Given the description of an element on the screen output the (x, y) to click on. 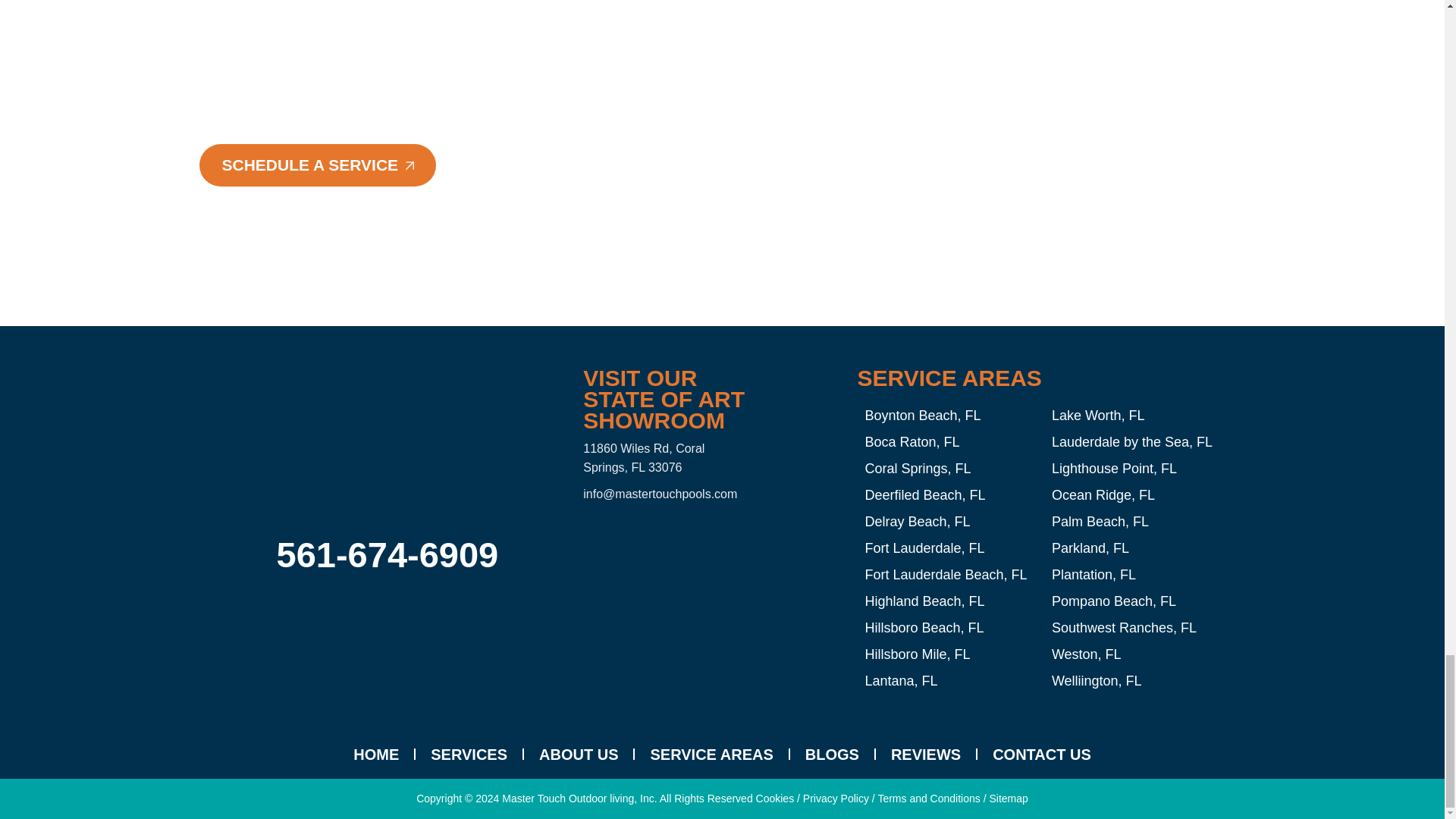
Mastertouch (700, 567)
